Given the description of an element on the screen output the (x, y) to click on. 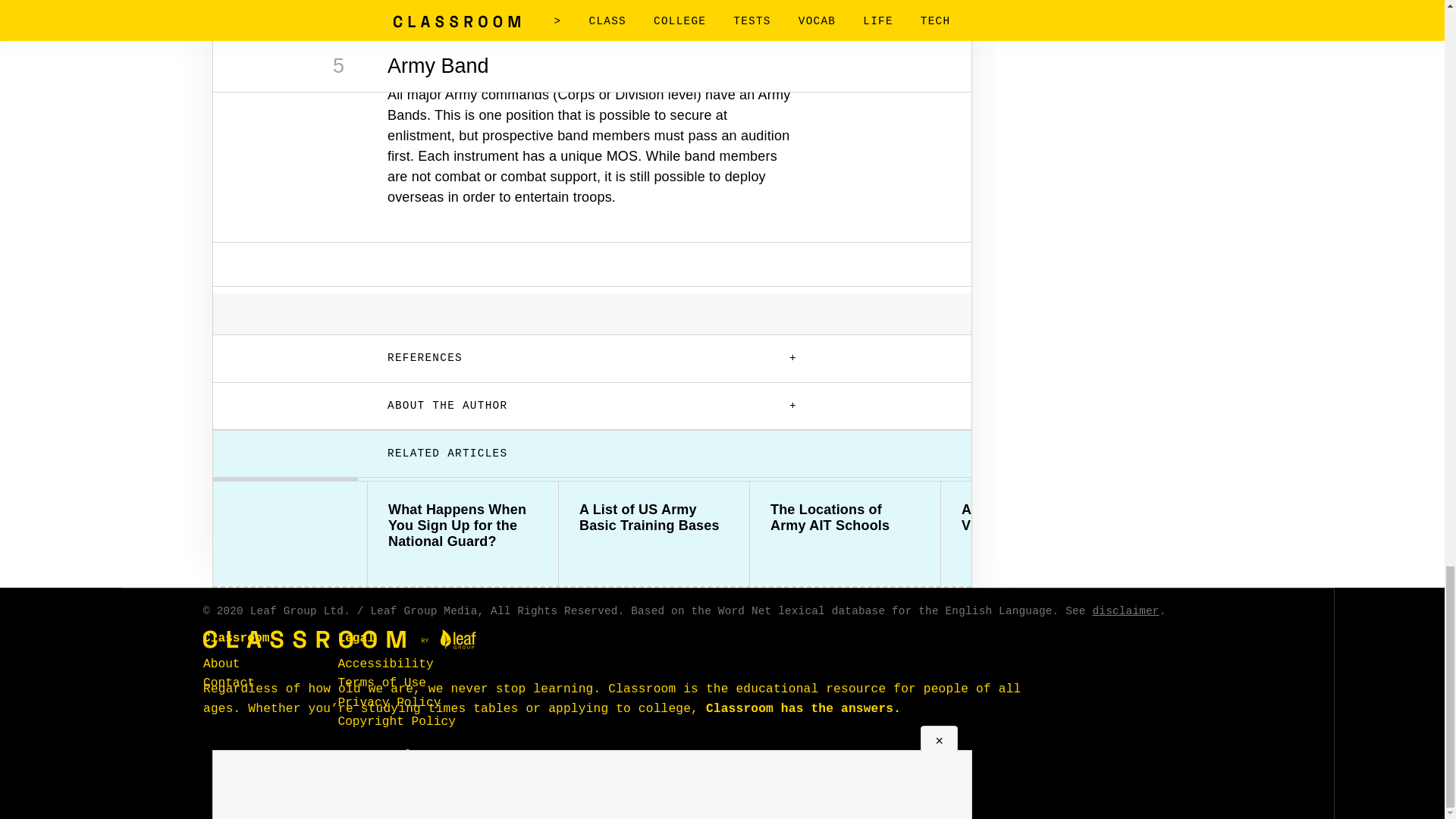
About (221, 663)
Accessibility (384, 663)
Army Basic Training Vs. Marine Bootcamp (1035, 517)
The Locations of Army AIT Schools (844, 517)
What Happens When a Marine Is Sworn In? (1227, 517)
Contact (228, 683)
Terms of Use (381, 683)
What Happens When You Sign Up for the National Guard? (462, 525)
A List of US Army Basic Training Bases (654, 517)
